Given the description of an element on the screen output the (x, y) to click on. 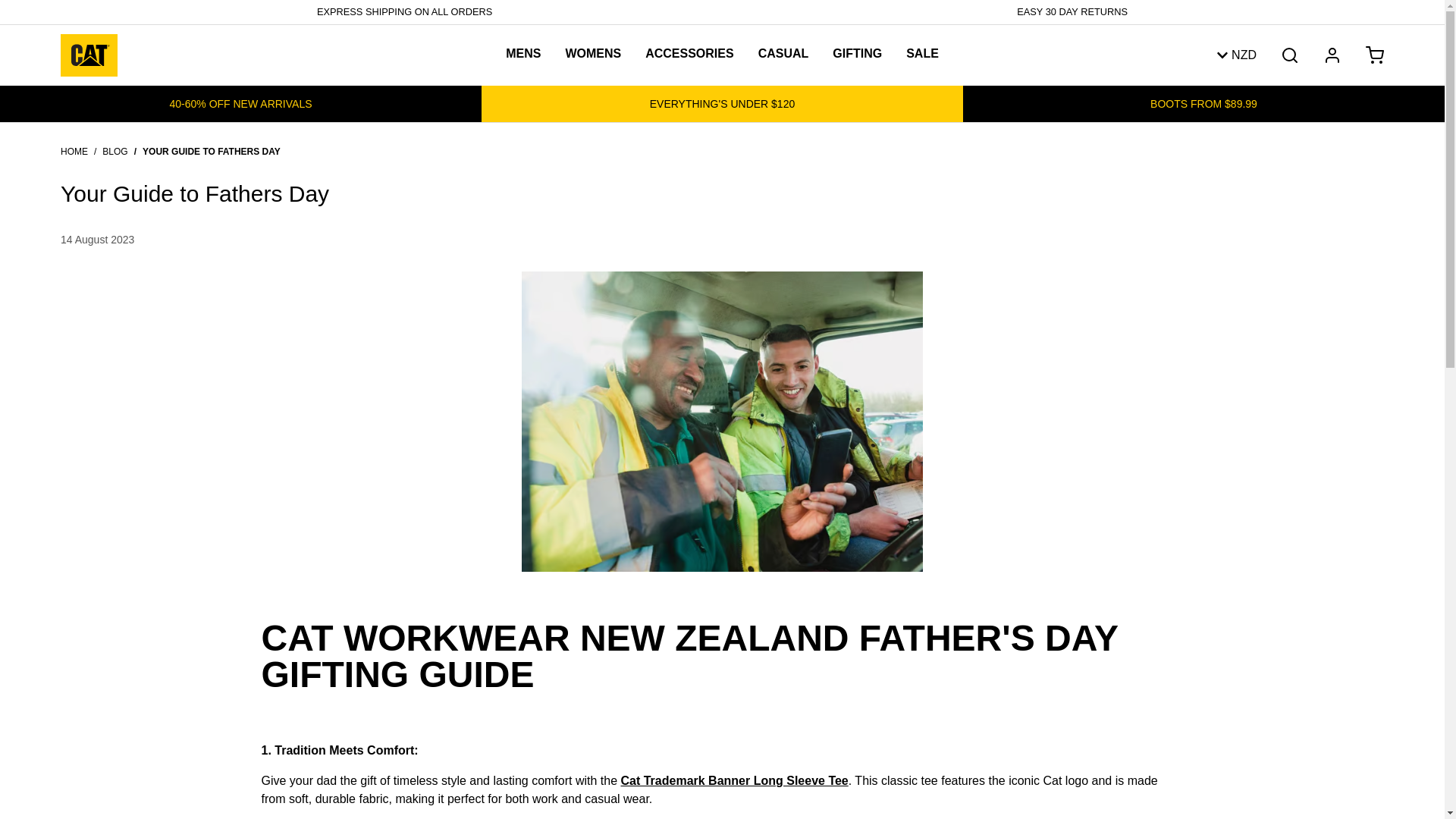
EXPRESS SHIPPING ON ALL ORDERS (404, 12)
WOMENS (593, 53)
Open Cart (1375, 55)
Change Country (1234, 54)
Search (1289, 55)
Your Guide to Fathers Day (211, 151)
EASY 30 DAY RETURNS (1071, 12)
ACCESSORIES (689, 53)
Blog (114, 151)
Homepage (74, 151)
MENS (523, 53)
